Given the description of an element on the screen output the (x, y) to click on. 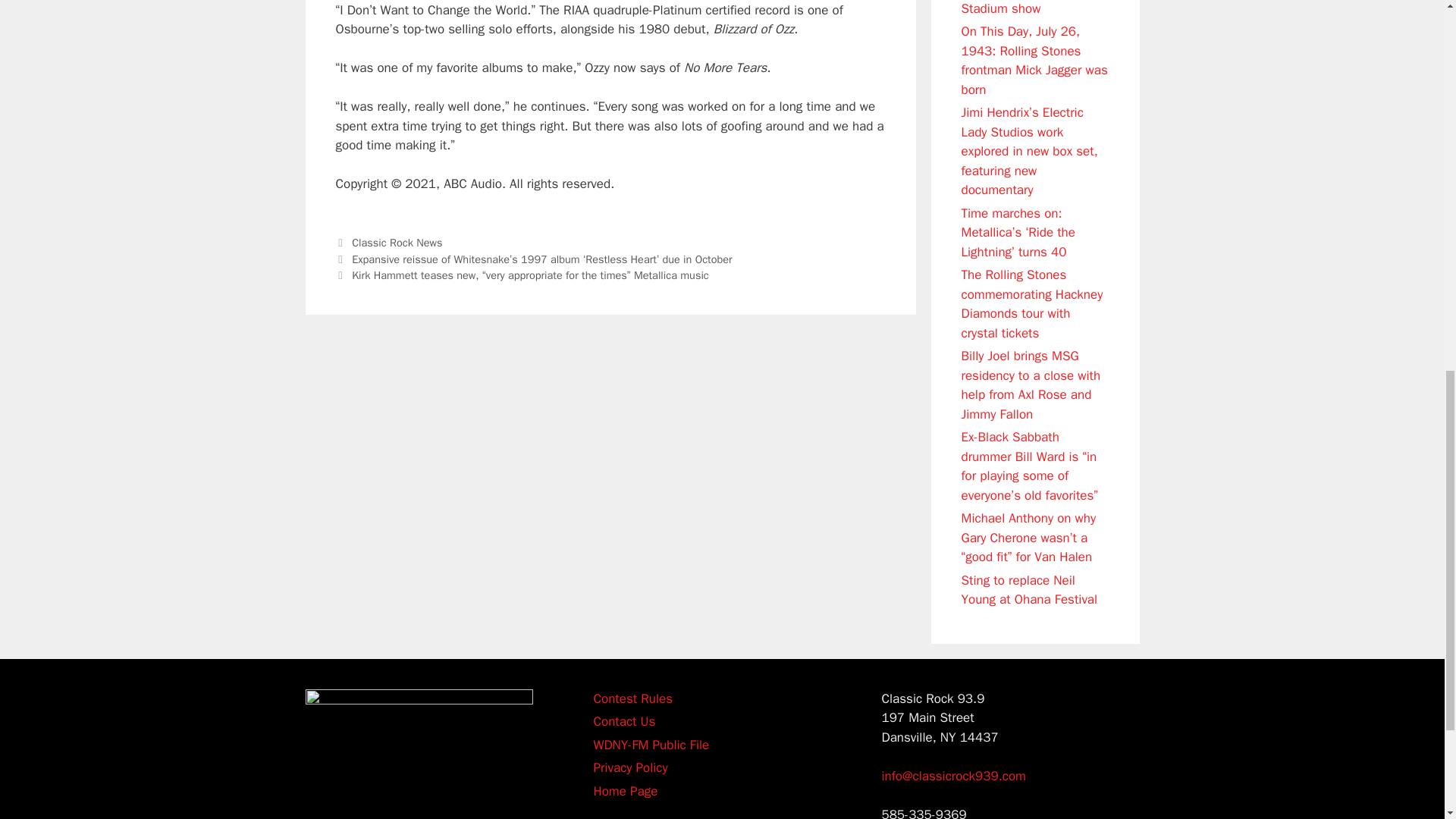
Contest Rules (632, 697)
Contact Us (623, 721)
Classic Rock News (397, 242)
Sting to replace Neil Young at Ohana Festival (1028, 589)
Privacy Policy (629, 767)
Home Page (625, 790)
WDNY-FM Public File (650, 744)
Bruce Springsteen aids in proposal at Wembley Stadium show (1033, 8)
